Given the description of an element on the screen output the (x, y) to click on. 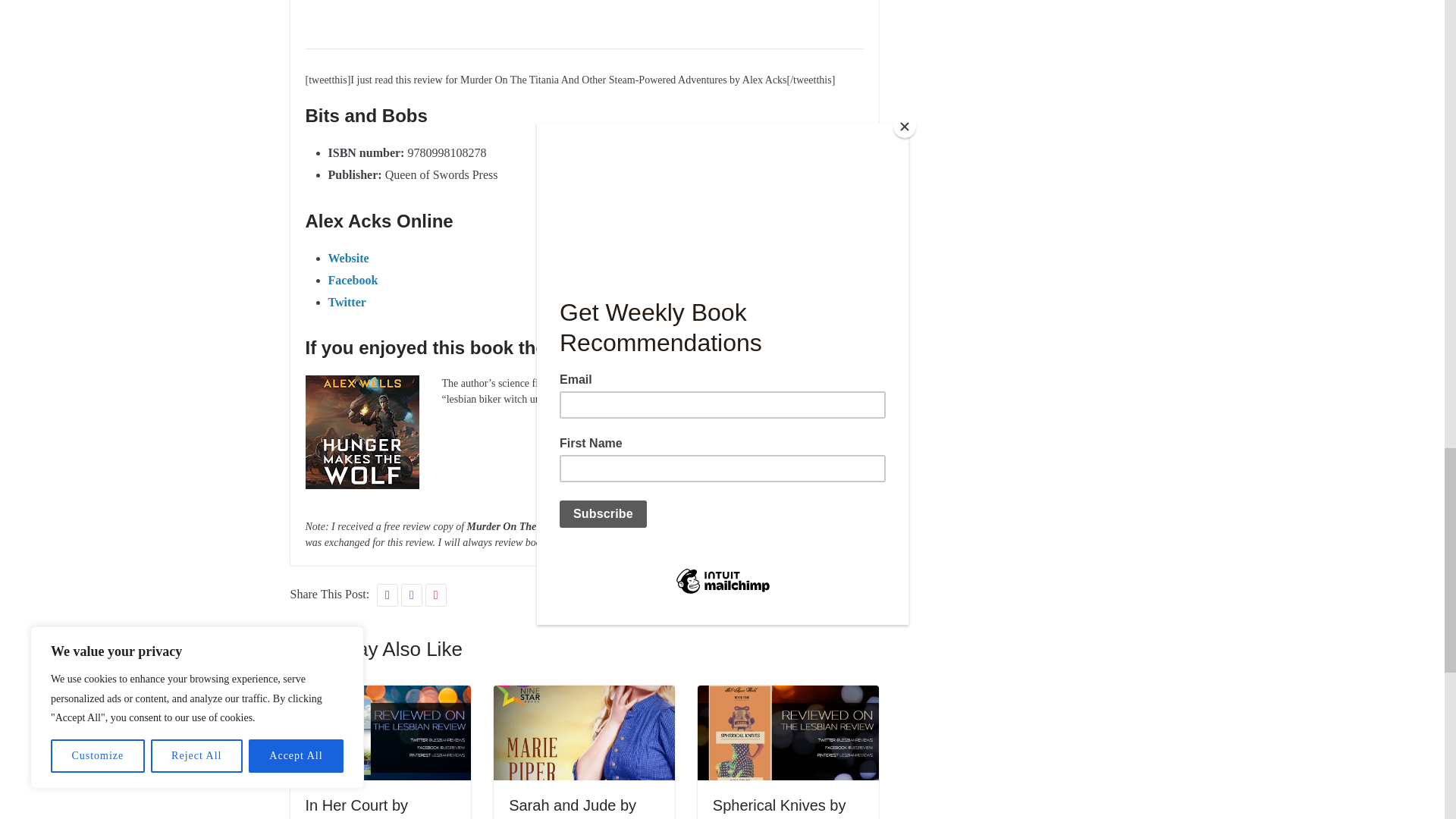
Spherical Knives by Ash Gray: Book Review (788, 695)
Sarah and Jude by Marie Piper: Book Review (572, 807)
In Her Court by Tamsen Parker: Audiobook Review (367, 807)
In Her Court by Tamsen Parker: Audiobook Review (379, 695)
Sarah and Jude by Marie Piper: Book Review (584, 695)
